Given the description of an element on the screen output the (x, y) to click on. 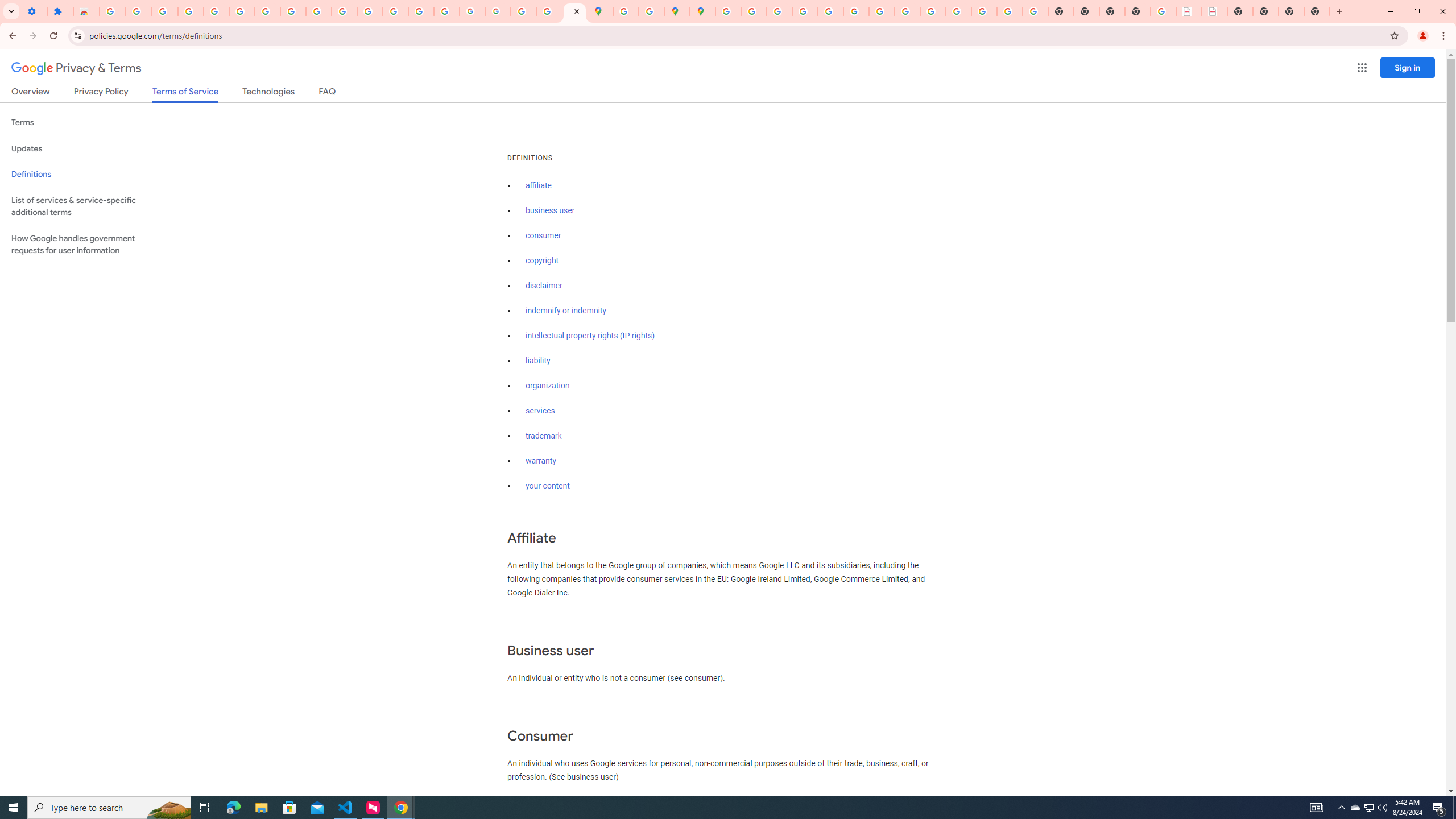
View site information (77, 35)
Privacy Policy (100, 93)
New Tab (1338, 11)
services (539, 411)
Address and search bar (735, 35)
disclaimer (543, 285)
Learn how to find your photos - Google Photos Help (190, 11)
Google Images (1034, 11)
liability (537, 361)
business user (550, 210)
BAE Systems Brasil | BAE Systems (1213, 11)
copyright (542, 260)
